Given the description of an element on the screen output the (x, y) to click on. 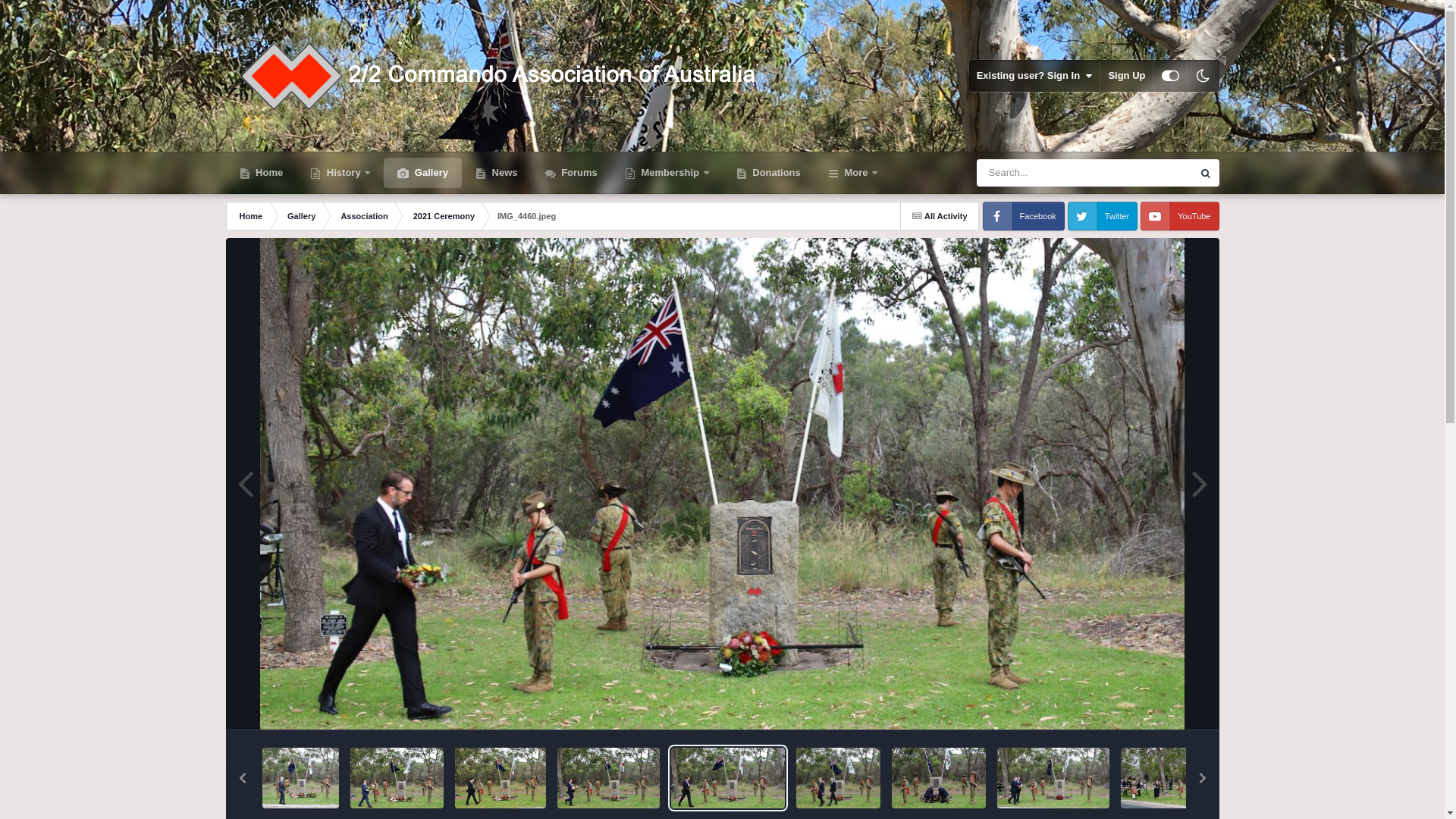
Membership Element type: text (666, 172)
Customizer Element type: hover (1170, 75)
View the image IMG_4485.jpeg Element type: hover (396, 777)
History Element type: text (339, 172)
All Activity Element type: text (939, 215)
News Element type: text (496, 172)
Gallery Element type: text (299, 215)
View the image IMG_4460.jpeg Element type: hover (727, 777)
Home Element type: text (249, 215)
View the image IMG_4469.jpeg Element type: hover (607, 777)
Facebook Element type: text (1023, 215)
Sign Up Element type: text (1126, 75)
View the image IMG_4440.jpeg Element type: hover (1181, 777)
2021 Ceremony Element type: text (442, 215)
View in lightbox Element type: hover (722, 483)
YouTube Element type: text (1179, 215)
Dark Mode Element type: hover (1203, 75)
View the image IMG_4478.jpeg Element type: hover (500, 777)
View the image IMG_4459.jpeg Element type: hover (838, 777)
Association Element type: text (362, 215)
View the image IMG_4493.jpeg Element type: hover (300, 777)
Home Element type: text (261, 172)
Twitter Element type: text (1102, 215)
Forums Element type: text (571, 172)
More Element type: text (852, 172)
View the image IMG_4452.jpeg Element type: hover (938, 777)
Donations Element type: text (768, 172)
Existing user? Sign In   Element type: text (1034, 75)
Gallery Element type: text (422, 172)
View the image IMG_4447.jpeg Element type: hover (1053, 777)
